Given the description of an element on the screen output the (x, y) to click on. 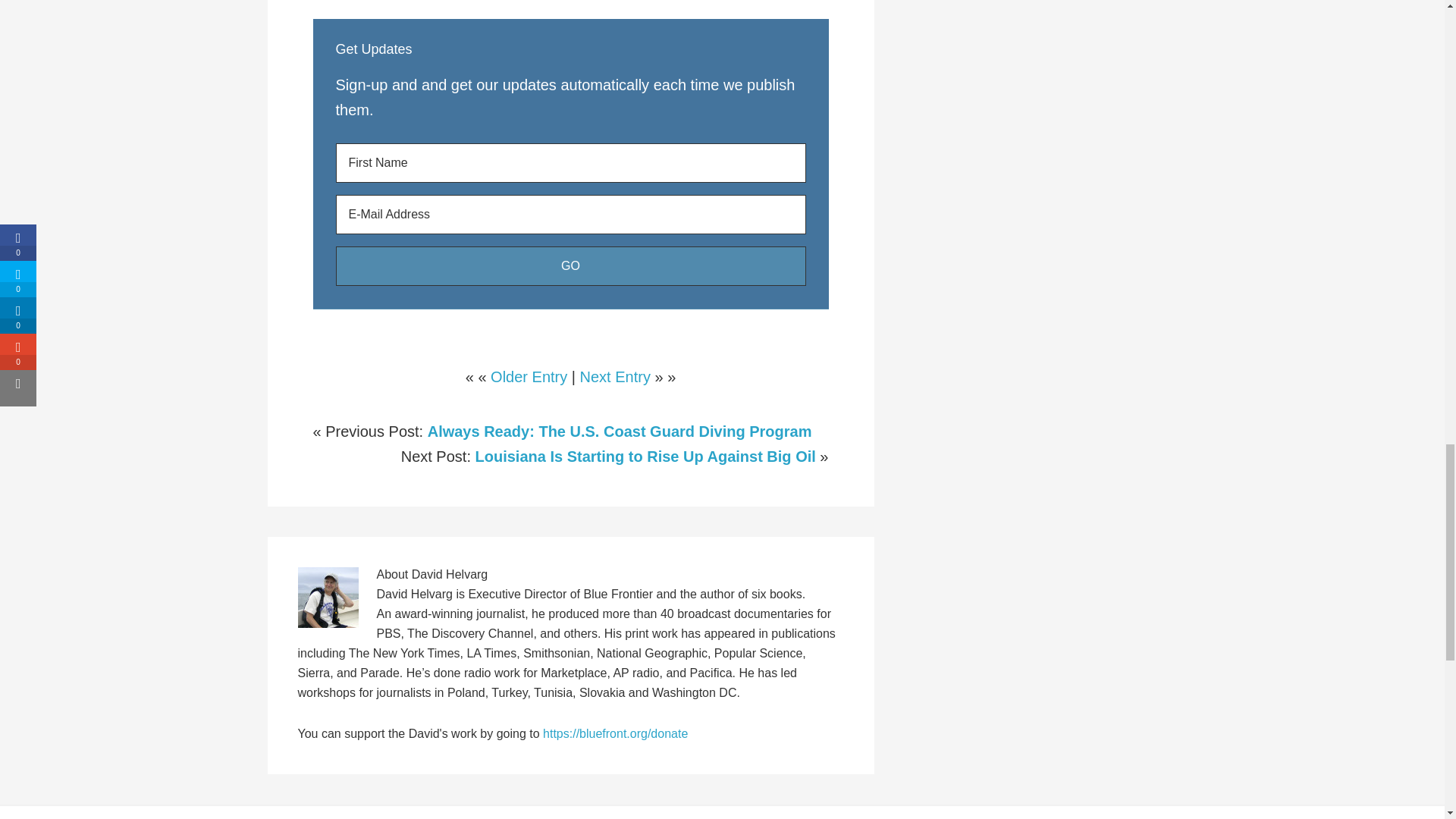
Go (569, 265)
